Given the description of an element on the screen output the (x, y) to click on. 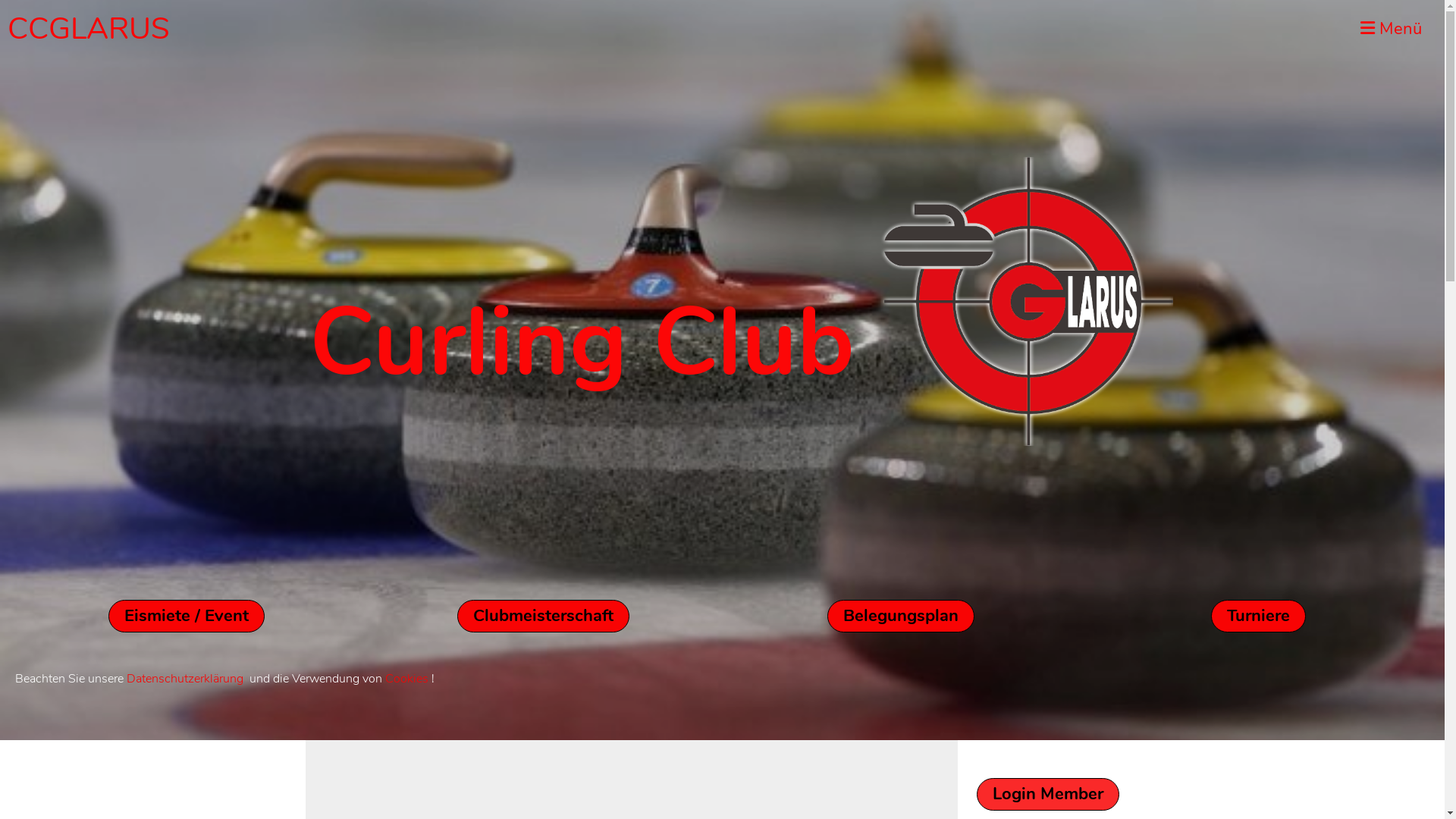
Clubmeisterschaft Element type: text (543, 615)
Belegungsplan Element type: text (900, 615)
Eismiete / Event Element type: text (186, 615)
Login Member Element type: text (1047, 794)
Turniere Element type: text (1258, 615)
Cookies Element type: text (406, 678)
CCGLARUS Element type: text (88, 28)
